Given the description of an element on the screen output the (x, y) to click on. 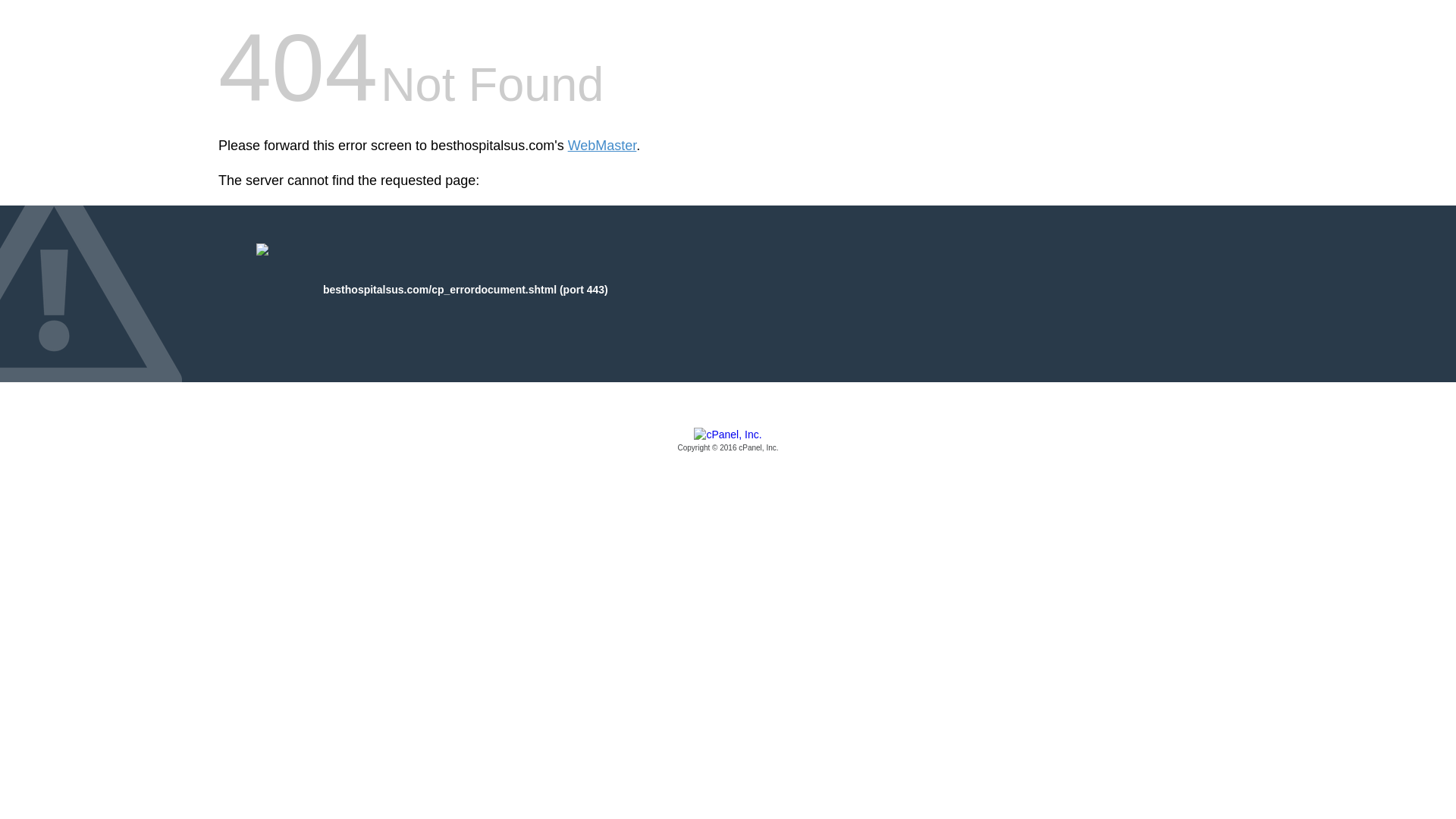
WebMaster (602, 145)
cPanel, Inc. (727, 440)
